Given the description of an element on the screen output the (x, y) to click on. 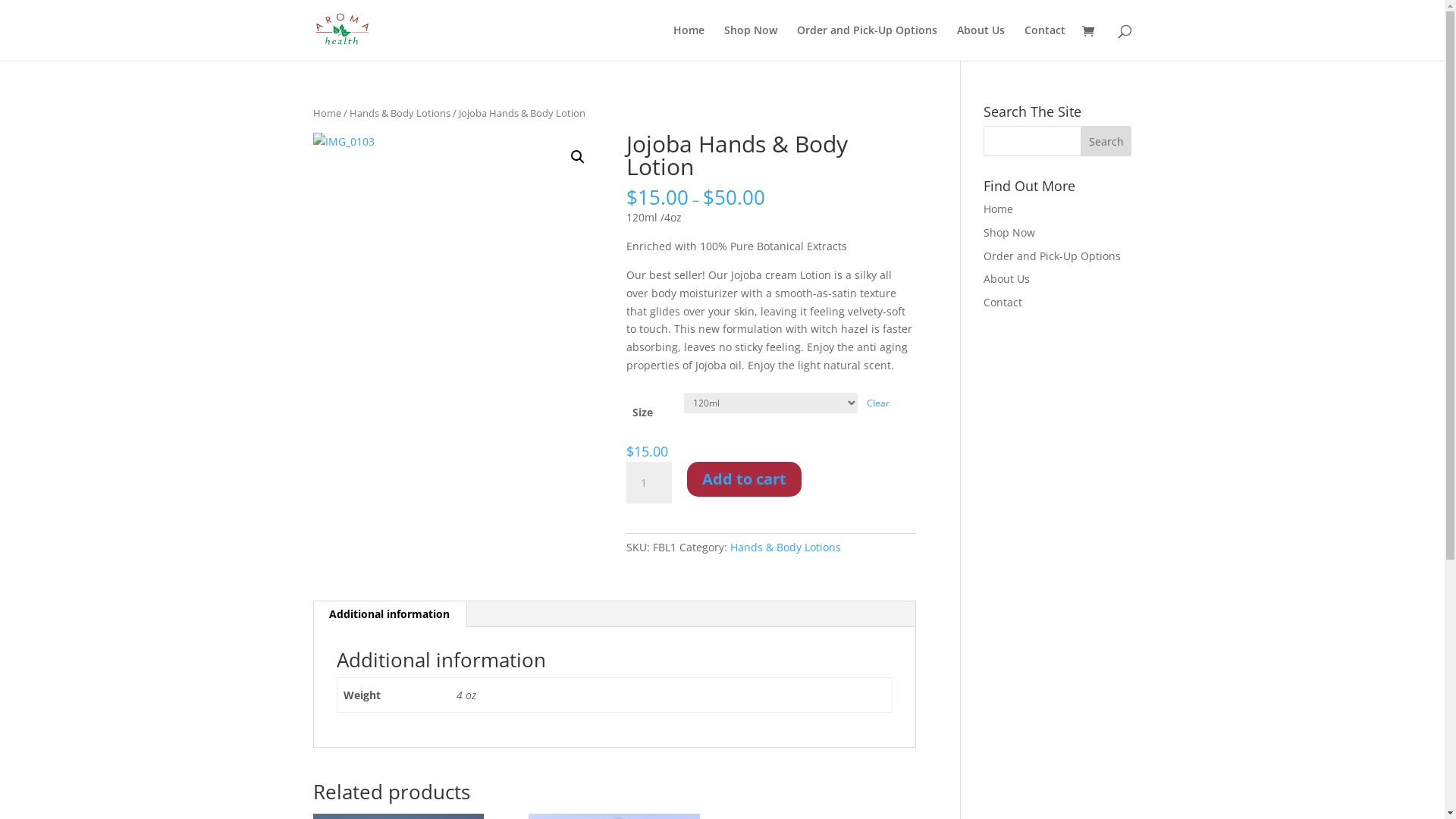
Hands & Body Lotions Element type: text (785, 546)
About Us Element type: text (980, 42)
Shop Now Element type: text (749, 42)
About Us Element type: text (1006, 278)
Clear Element type: text (877, 402)
IMG_0103 Element type: hover (457, 277)
Add to cart Element type: text (744, 478)
Order and Pick-Up Options Element type: text (866, 42)
Home Element type: text (688, 42)
Additional information Element type: text (389, 614)
Hands & Body Lotions Element type: text (398, 112)
Shop Now Element type: text (1009, 232)
Home Element type: text (998, 208)
Home Element type: text (326, 112)
Order and Pick-Up Options Element type: text (1051, 255)
Search Element type: text (1106, 140)
Contact Element type: text (1043, 42)
Contact Element type: text (1002, 301)
